Given the description of an element on the screen output the (x, y) to click on. 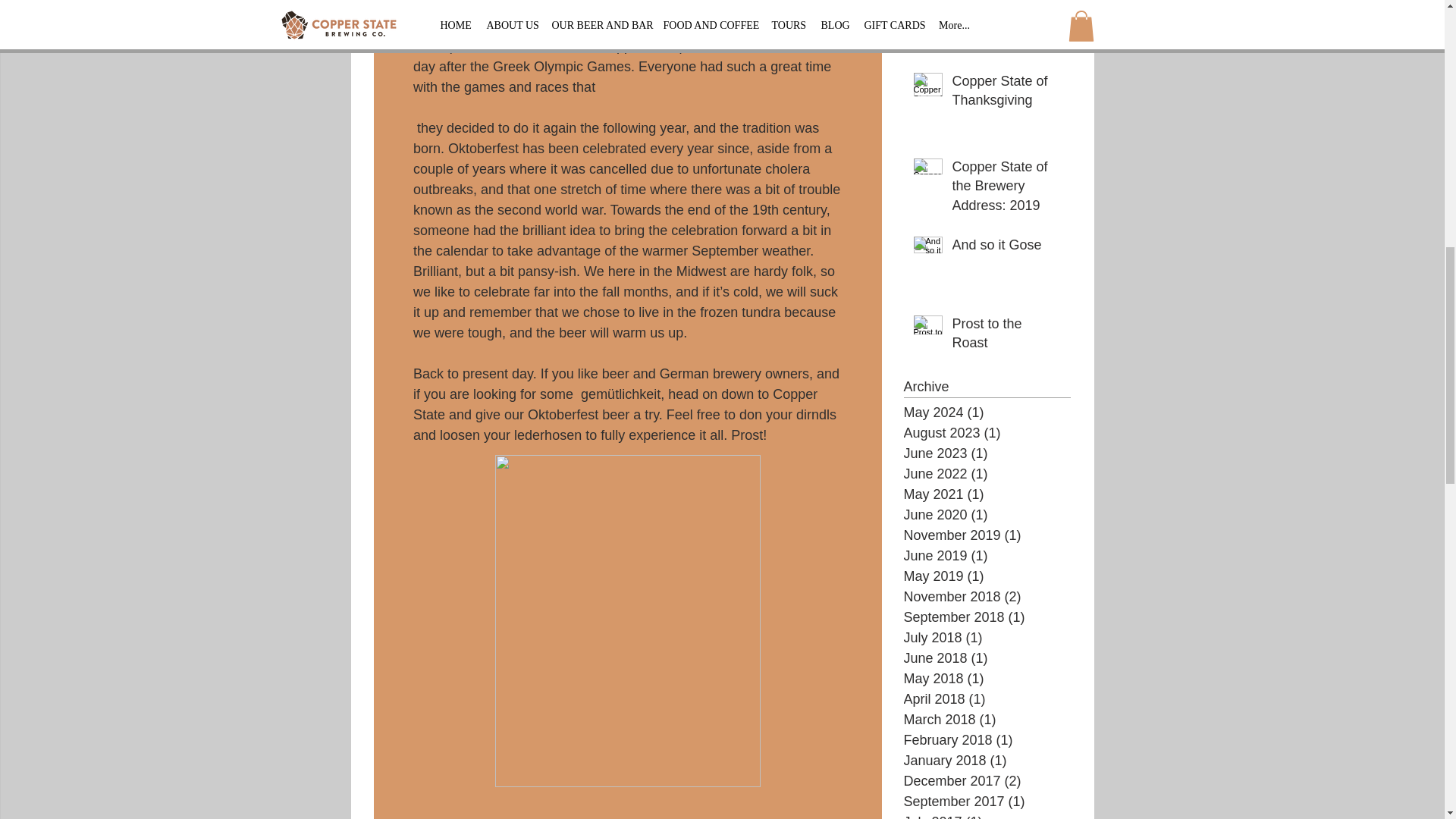
Copper State of the Brewery Address: 2020 (1006, 27)
Prost to the Roast (1006, 336)
Copper State of the Brewery Address: 2019 (1006, 189)
And so it Gose (1006, 248)
Copper State of Thanksgiving (1006, 94)
